Given the description of an element on the screen output the (x, y) to click on. 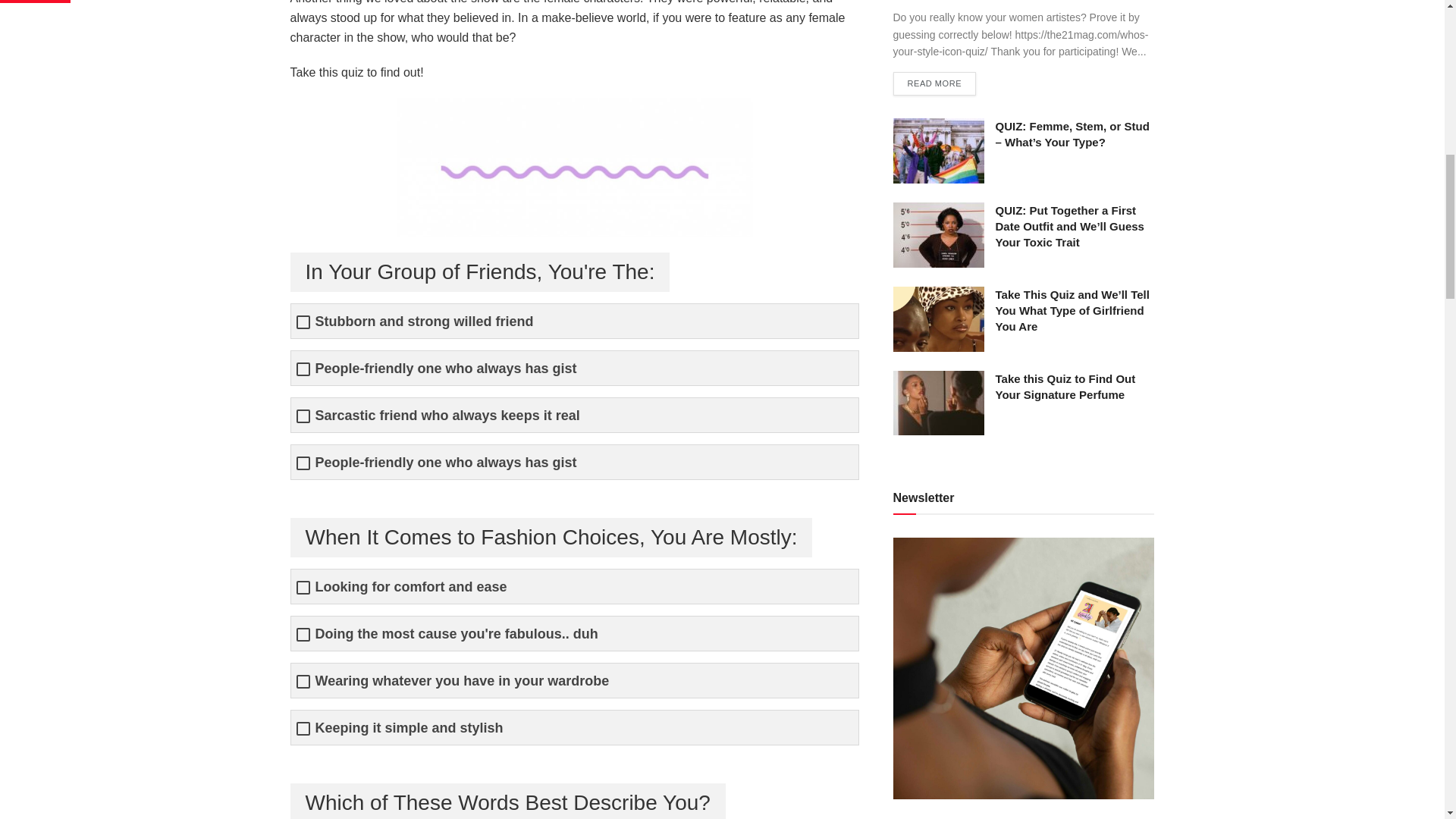
Newsletter (1023, 668)
